Given the description of an element on the screen output the (x, y) to click on. 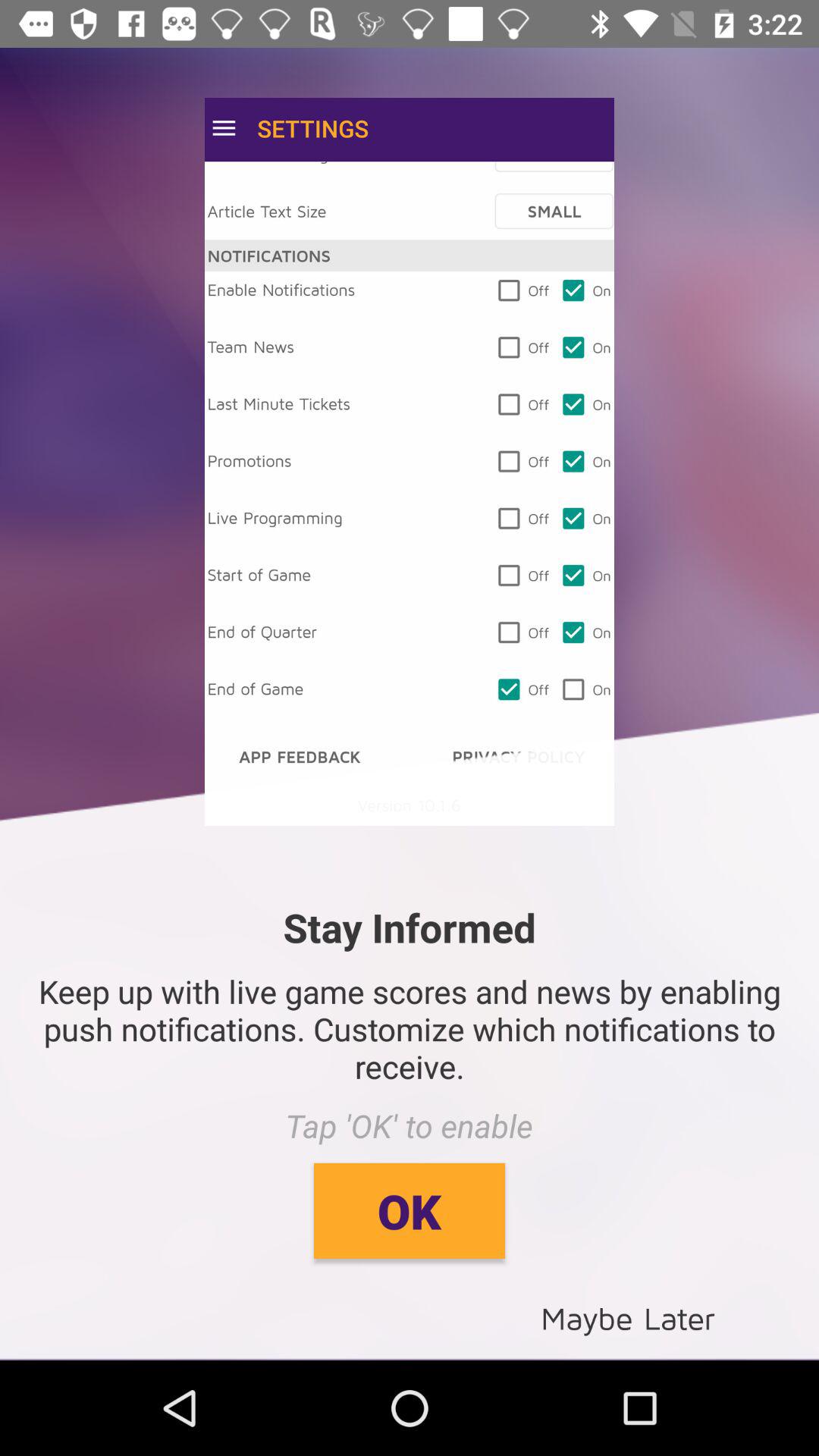
click maybe later at the bottom right corner (627, 1317)
